Given the description of an element on the screen output the (x, y) to click on. 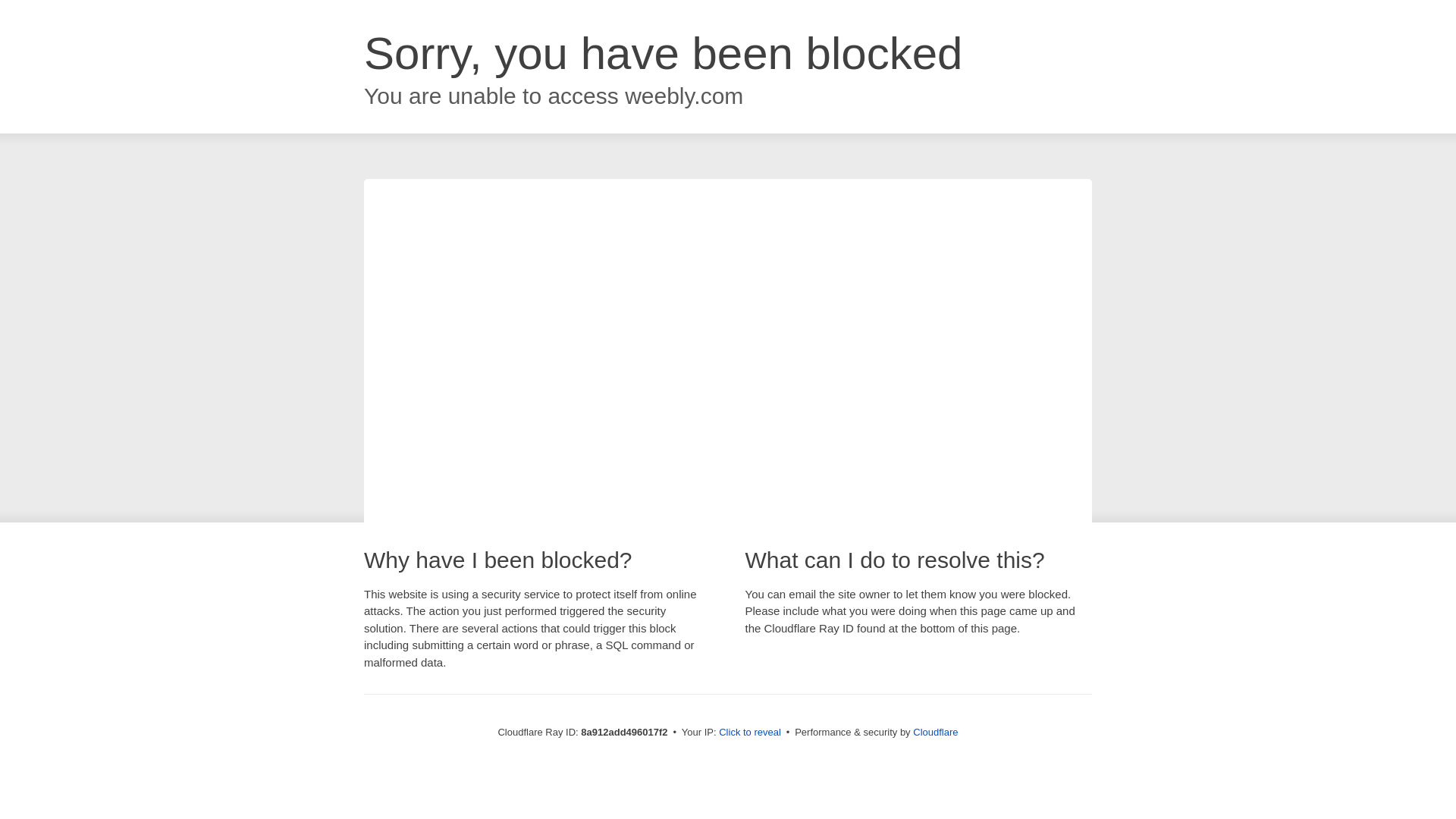
Click to reveal (749, 732)
Cloudflare (935, 731)
